Given the description of an element on the screen output the (x, y) to click on. 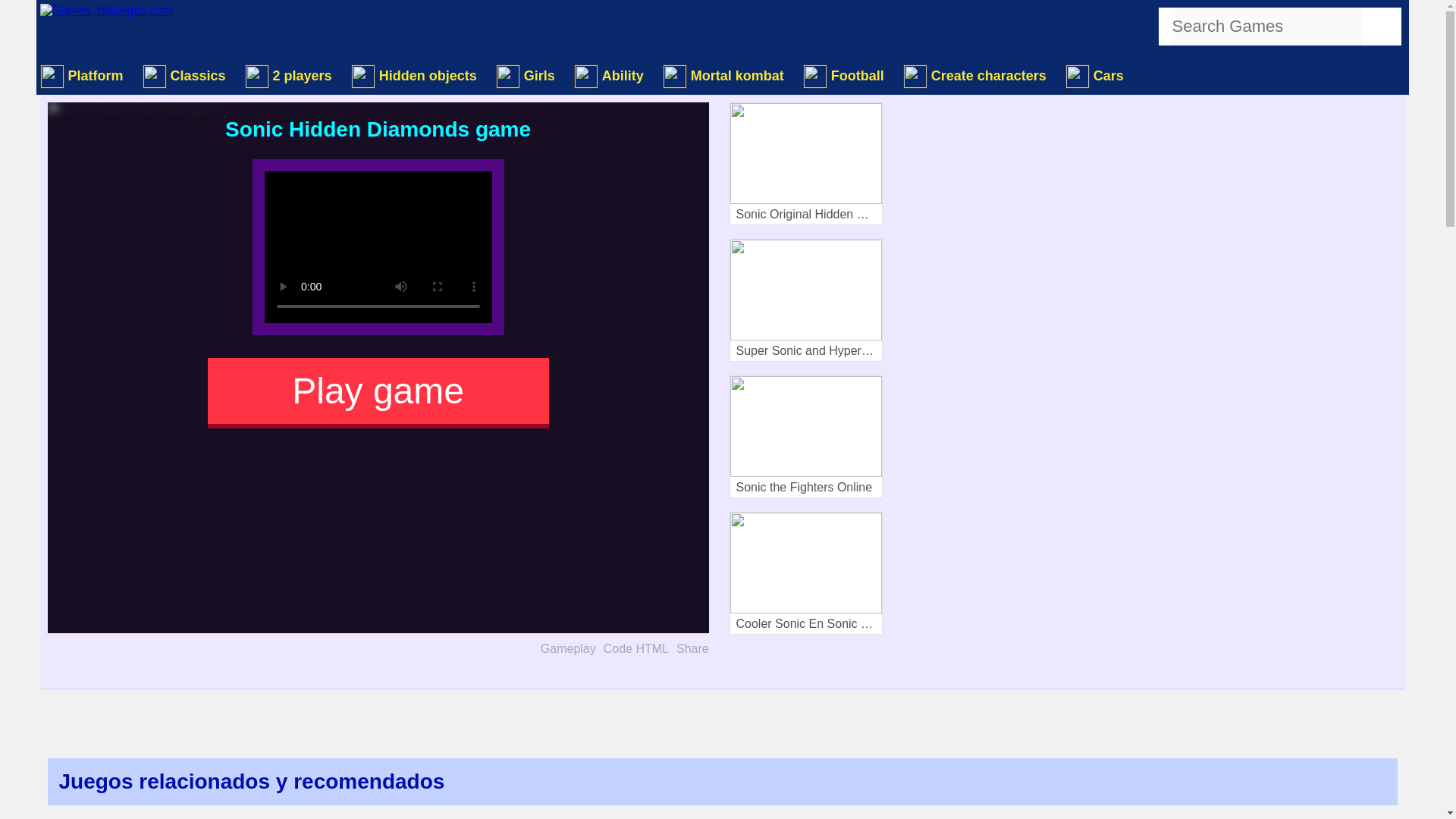
Football (845, 75)
Gameplay (567, 649)
Create characters (975, 75)
Free Girls games (527, 75)
Free Create characters games, Character creation (975, 75)
Girls (527, 75)
Super Sonic and Hyper Sonic in Sonic 1 (805, 300)
Super Sonic and Hyper Sonic in Sonic 1 (805, 300)
Share (693, 649)
Free Cars games, Drive cars (1095, 75)
Free Football games (845, 75)
Sonic the Fighters Online (805, 436)
Free Ability games, Skill and logic (610, 75)
Sonic Original Hidden Diamonds Go (805, 163)
Share (693, 649)
